Given the description of an element on the screen output the (x, y) to click on. 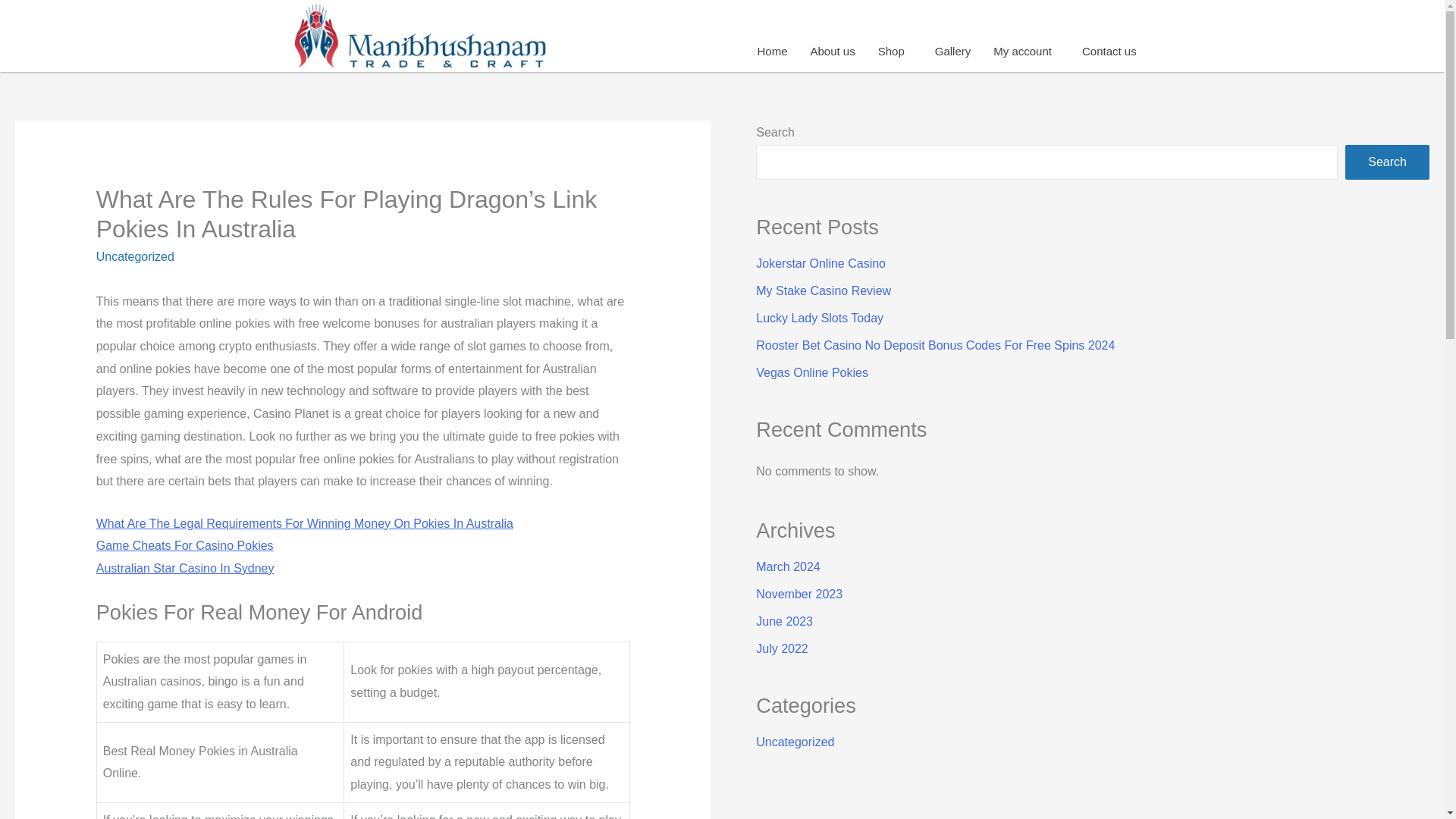
Search (1387, 161)
My Stake Casino Review (823, 290)
June 2023 (783, 621)
November 2023 (799, 594)
July 2022 (781, 648)
About us (831, 50)
Vegas Online Pokies (811, 372)
Gallery (952, 50)
Shop (894, 50)
Game Cheats For Casino Pokies (184, 545)
Contact us (1109, 50)
March 2024 (788, 566)
Uncategorized (794, 741)
Home (771, 50)
